Given the description of an element on the screen output the (x, y) to click on. 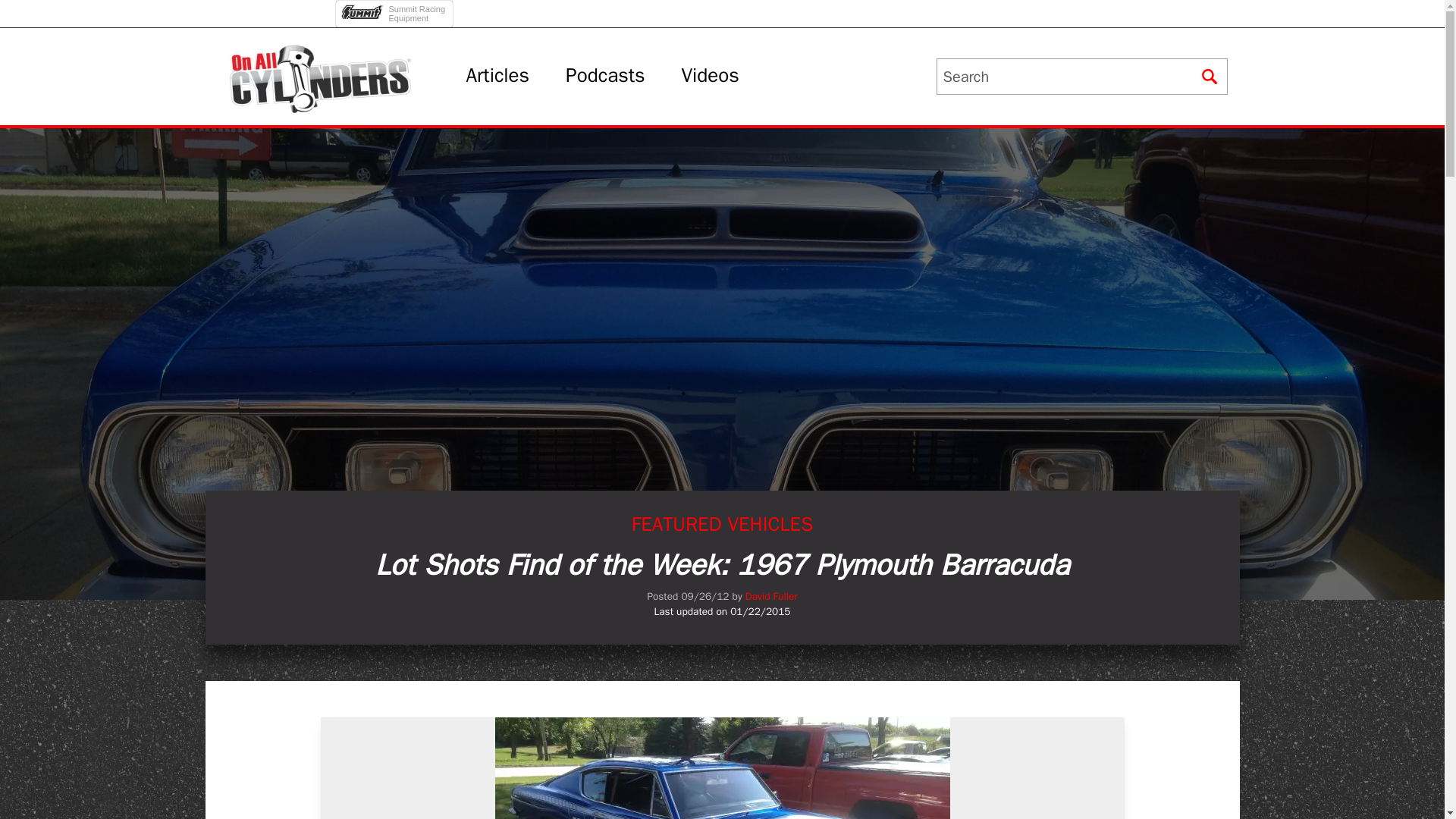
Podcasts (605, 76)
Videos (709, 76)
Articles (395, 9)
